Given the description of an element on the screen output the (x, y) to click on. 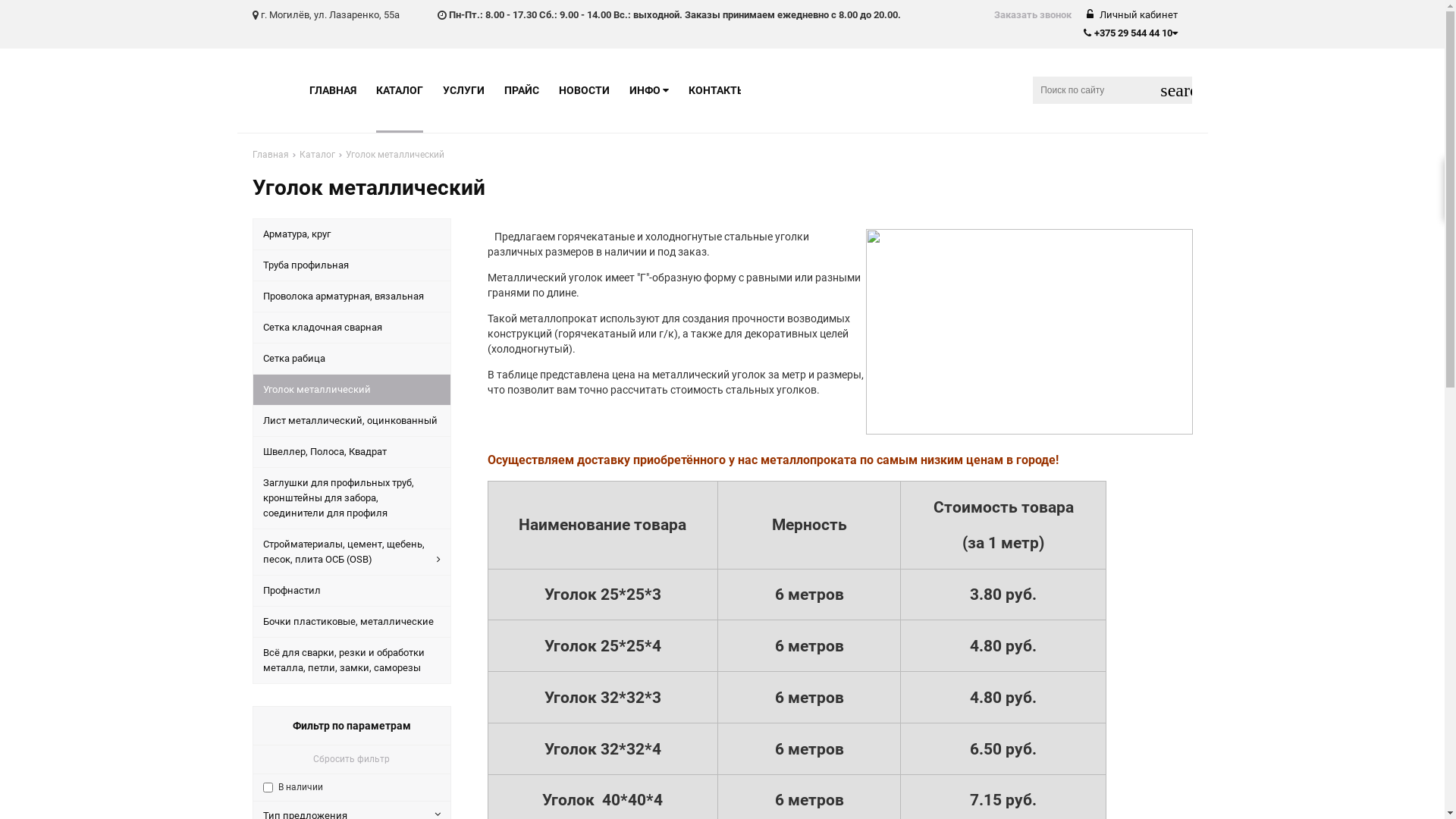
+375 29 544 44 10 Element type: text (1129, 33)
search Element type: text (1176, 89)
